Given the description of an element on the screen output the (x, y) to click on. 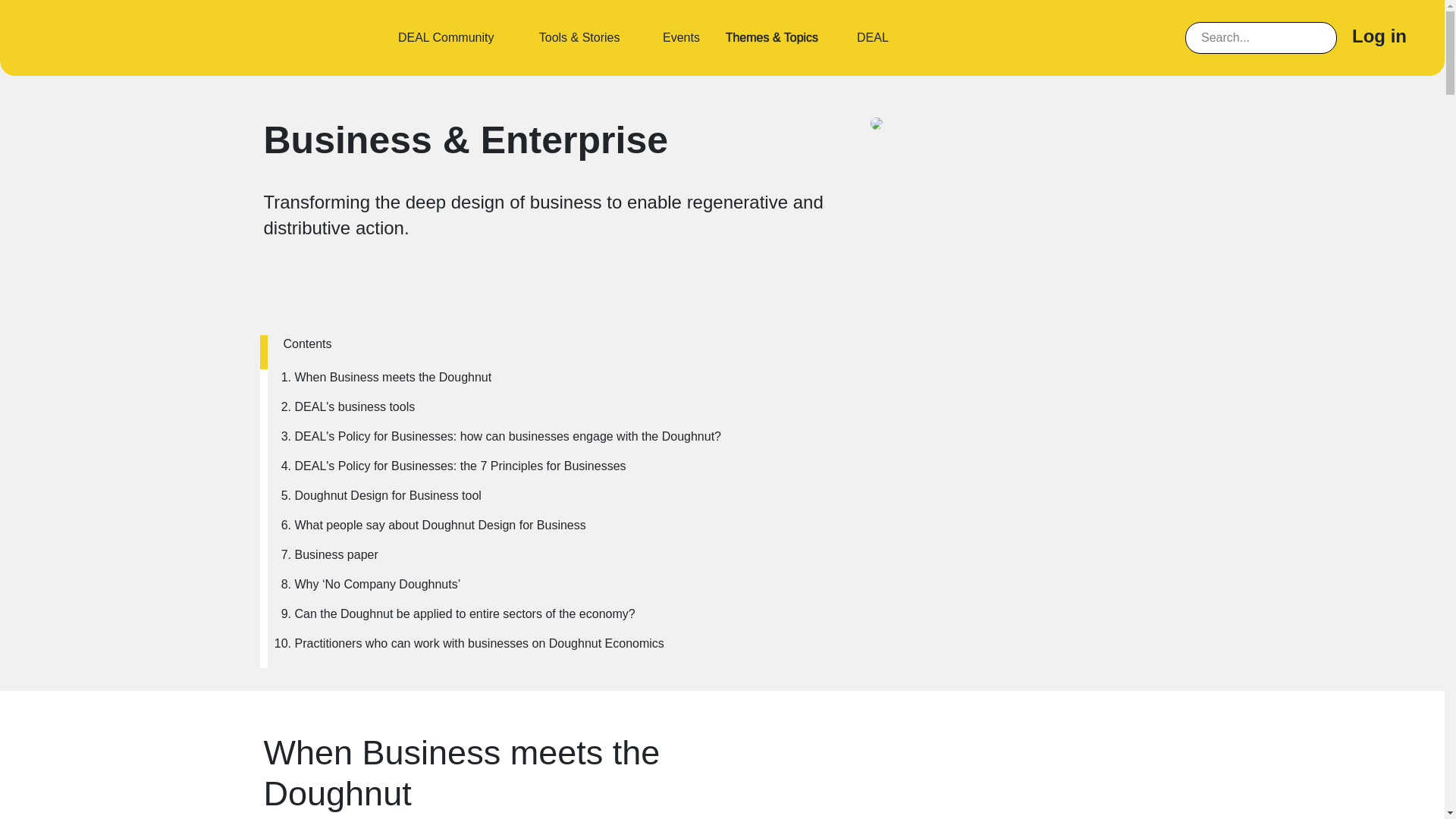
Themes (771, 37)
Events (680, 37)
Doughnut Design for Business tool (507, 495)
DEAL (872, 37)
DEAL Community (445, 37)
DEAL Community (445, 37)
DEAL's business tools (507, 407)
What people say about Doughnut Design for Business (507, 525)
